Given the description of an element on the screen output the (x, y) to click on. 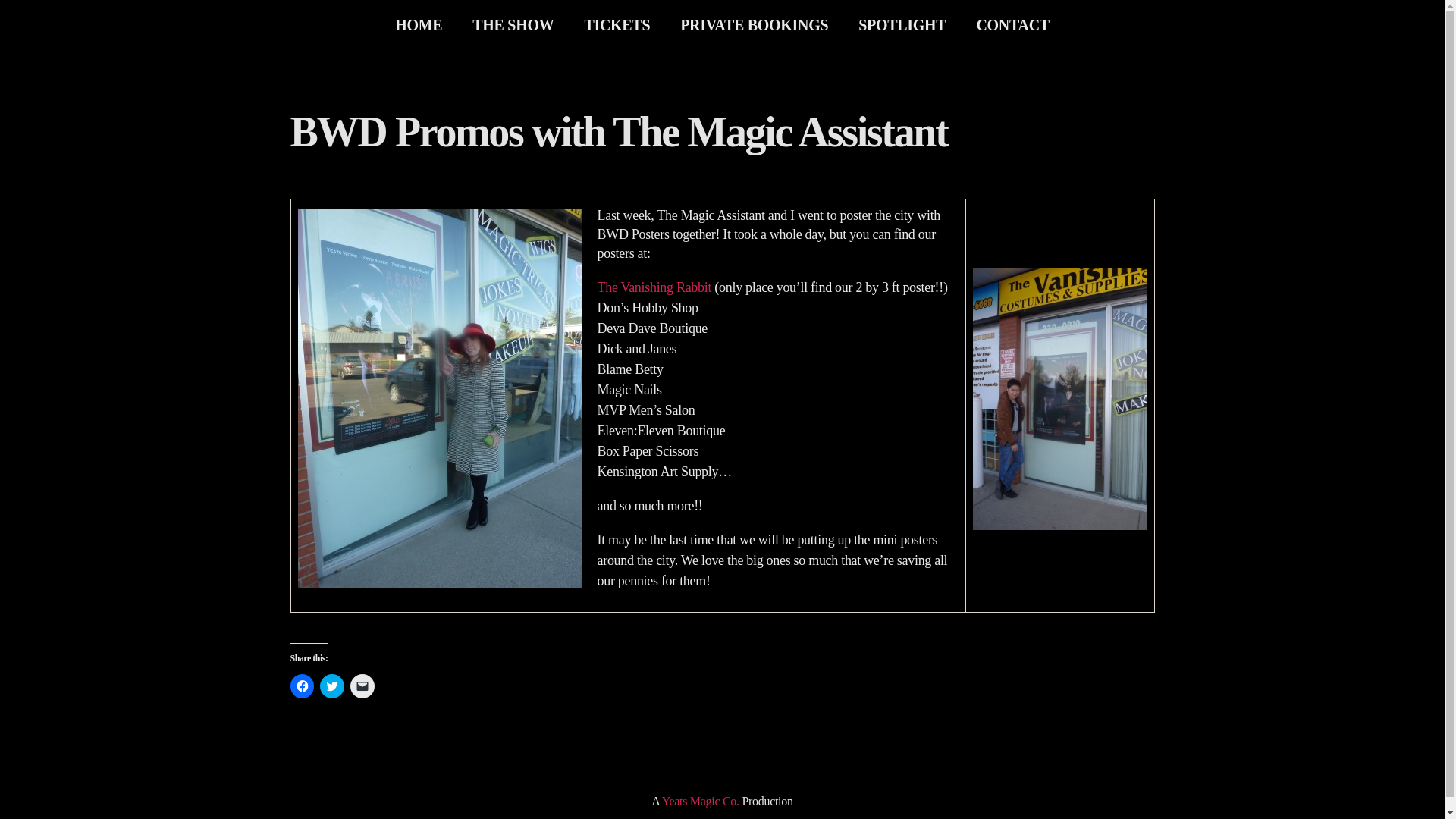
Click to email a link to a friend (362, 686)
The Vanishing Rabbit (653, 287)
PRIVATE BOOKINGS (754, 24)
The Vanishing Rabbit (653, 287)
CONTACT (1012, 24)
HOME (418, 24)
TICKETS (617, 24)
Click to share on Facebook (301, 686)
SPOTLIGHT (901, 24)
Click to share on Twitter (331, 686)
THE SHOW (513, 24)
Yeats Magic Co. (700, 800)
